Given the description of an element on the screen output the (x, y) to click on. 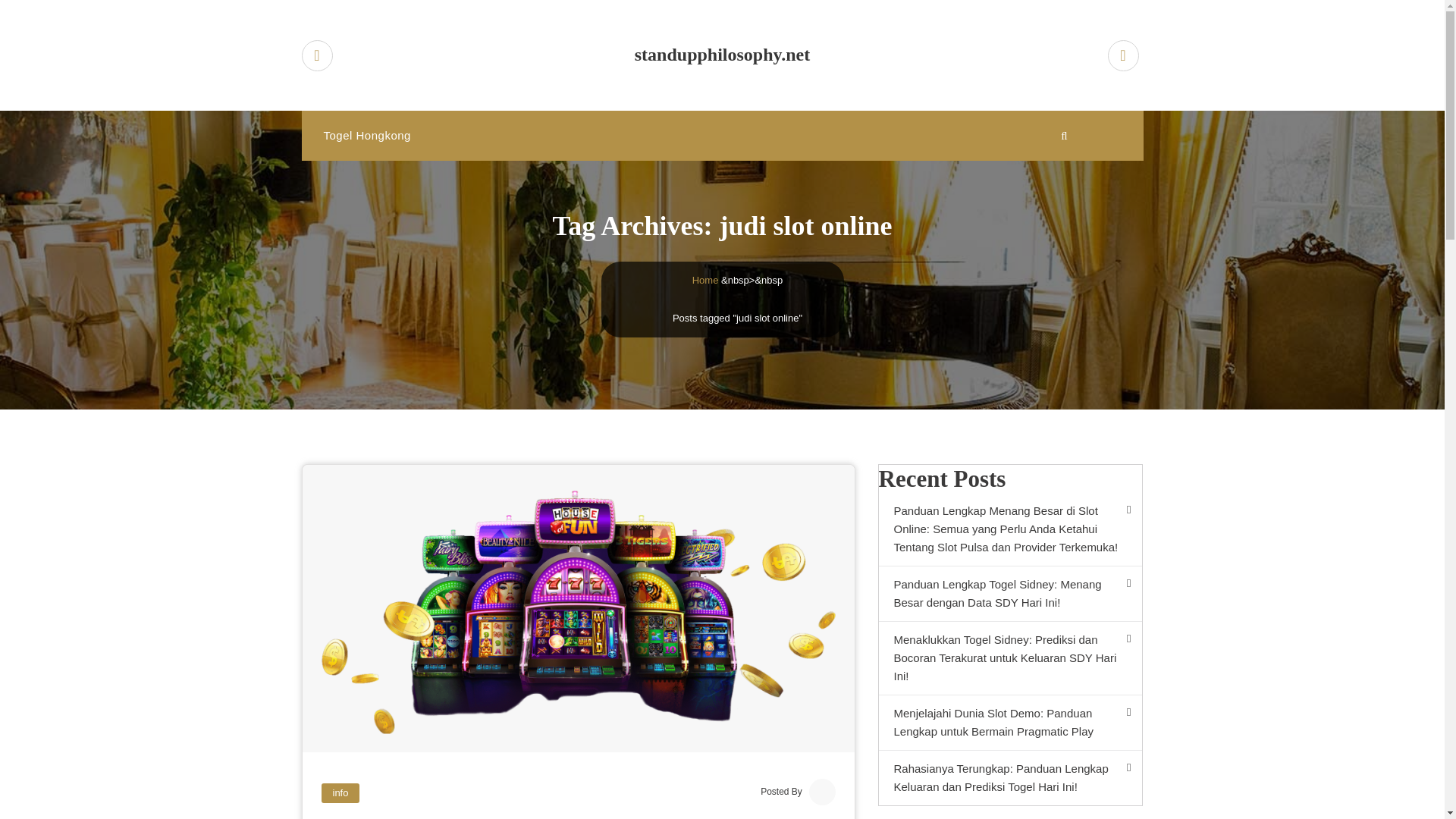
info (340, 792)
standupphilosophy.net (722, 54)
Togel Hongkong (366, 135)
Home (706, 279)
Togel Hongkong (366, 135)
